Given the description of an element on the screen output the (x, y) to click on. 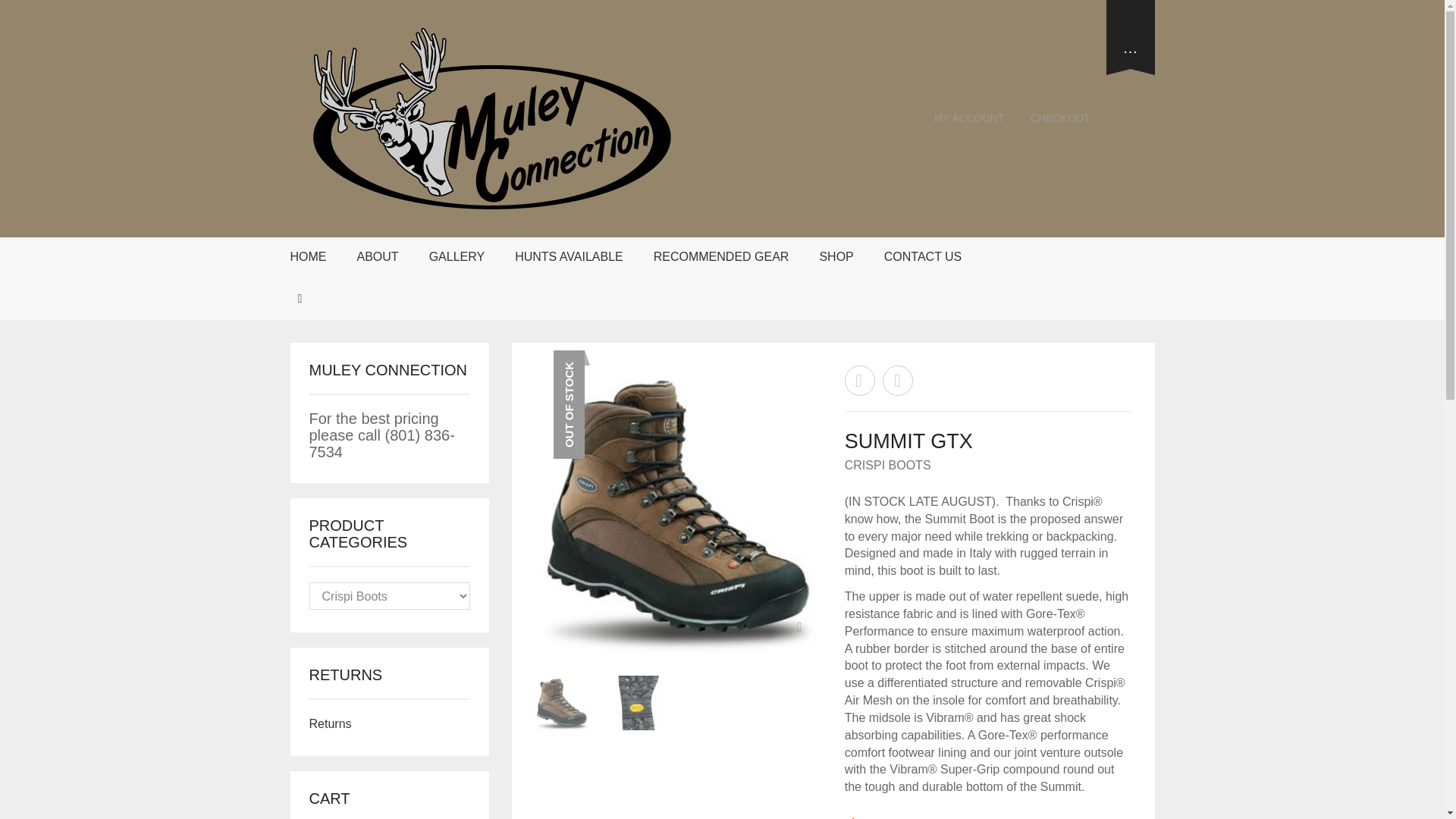
SHOP (835, 257)
CRISPI BOOTS (887, 464)
RECOMMENDED GEAR (721, 257)
GALLERY (457, 257)
CHECKOUT (1056, 118)
CONTACT US (922, 257)
Valdres Plus GTX (897, 380)
HUNTS AVAILABLE (568, 257)
ABOUT (377, 257)
MY ACCOUNT (968, 118)
